Given the description of an element on the screen output the (x, y) to click on. 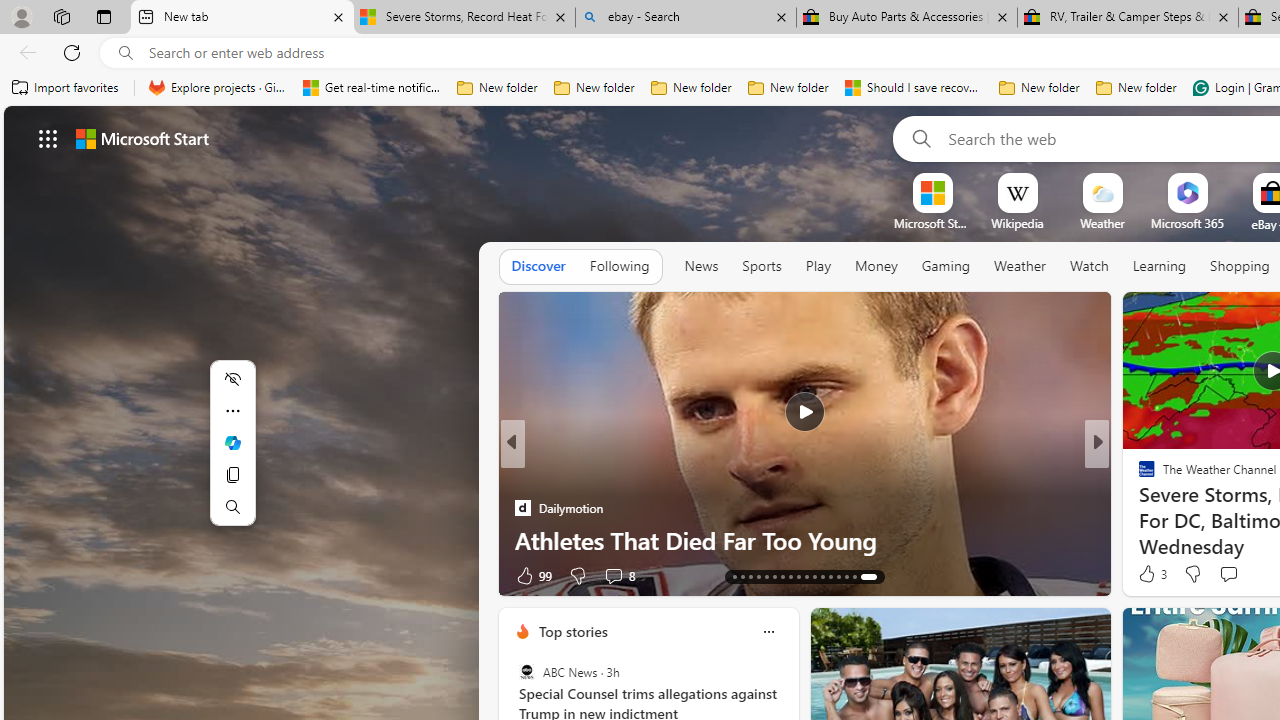
More Options (1219, 179)
AutomationID: tab-29 (874, 576)
7 Like (1145, 574)
Should I save recovered Word documents? - Microsoft Support (913, 88)
App launcher (47, 138)
ETNT Mind+Body (1138, 475)
Verywell Mind (1138, 507)
Mini menu on text selection (232, 442)
View comments 167 Comment (1247, 574)
Play (818, 267)
Import favorites (65, 88)
